Given the description of an element on the screen output the (x, y) to click on. 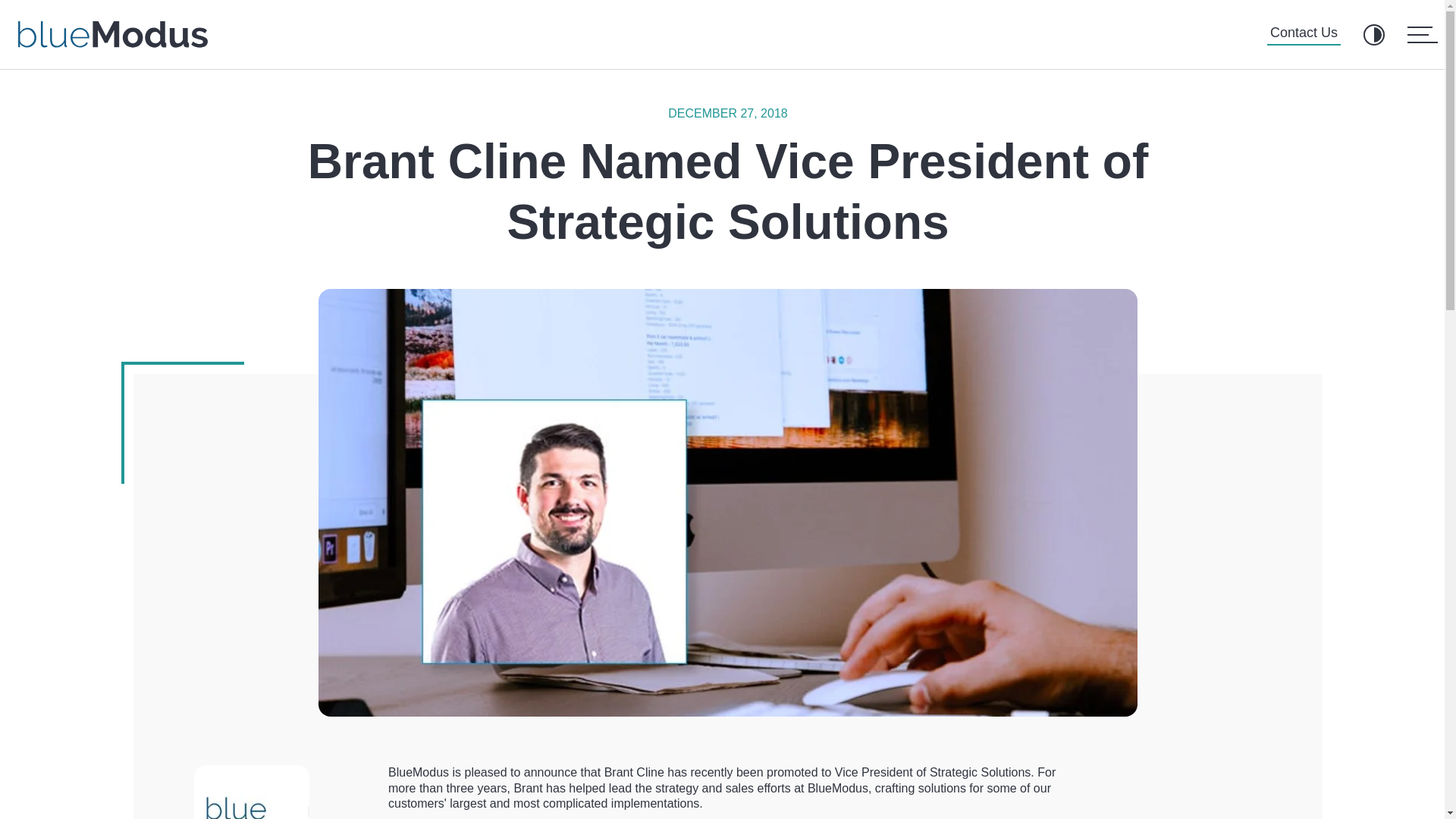
Contact Us (1303, 34)
303.759.2100 (437, 716)
303.759.2100 (98, 716)
